Given the description of an element on the screen output the (x, y) to click on. 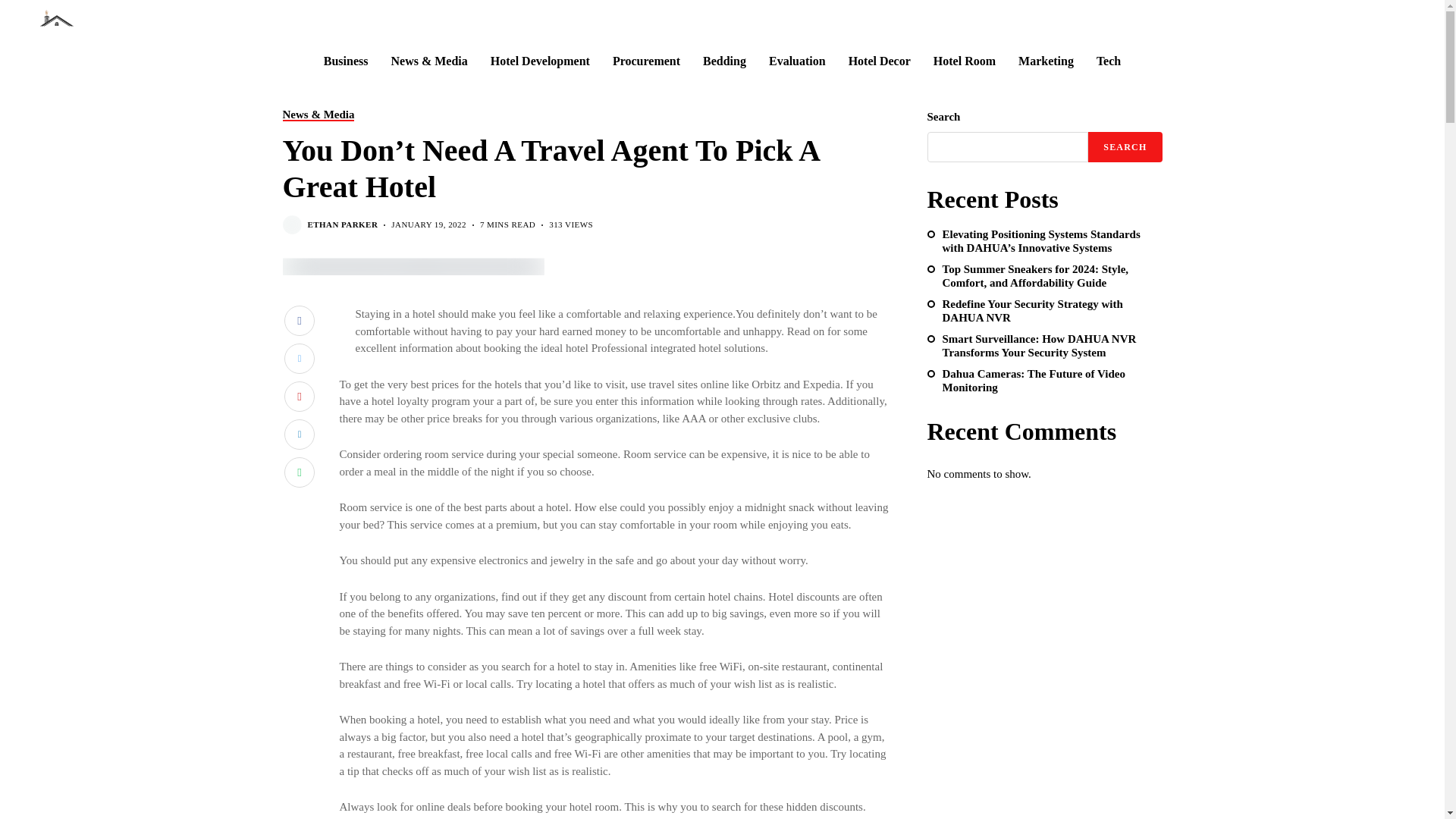
Hotel Development (539, 61)
Marketing (1045, 61)
Business (345, 61)
Tech (1108, 61)
Hotel Decor (879, 61)
Posts by Ethan Parker (342, 225)
Hotel Room (964, 61)
Evaluation (796, 61)
Bedding (724, 61)
Procurement (645, 61)
